Given the description of an element on the screen output the (x, y) to click on. 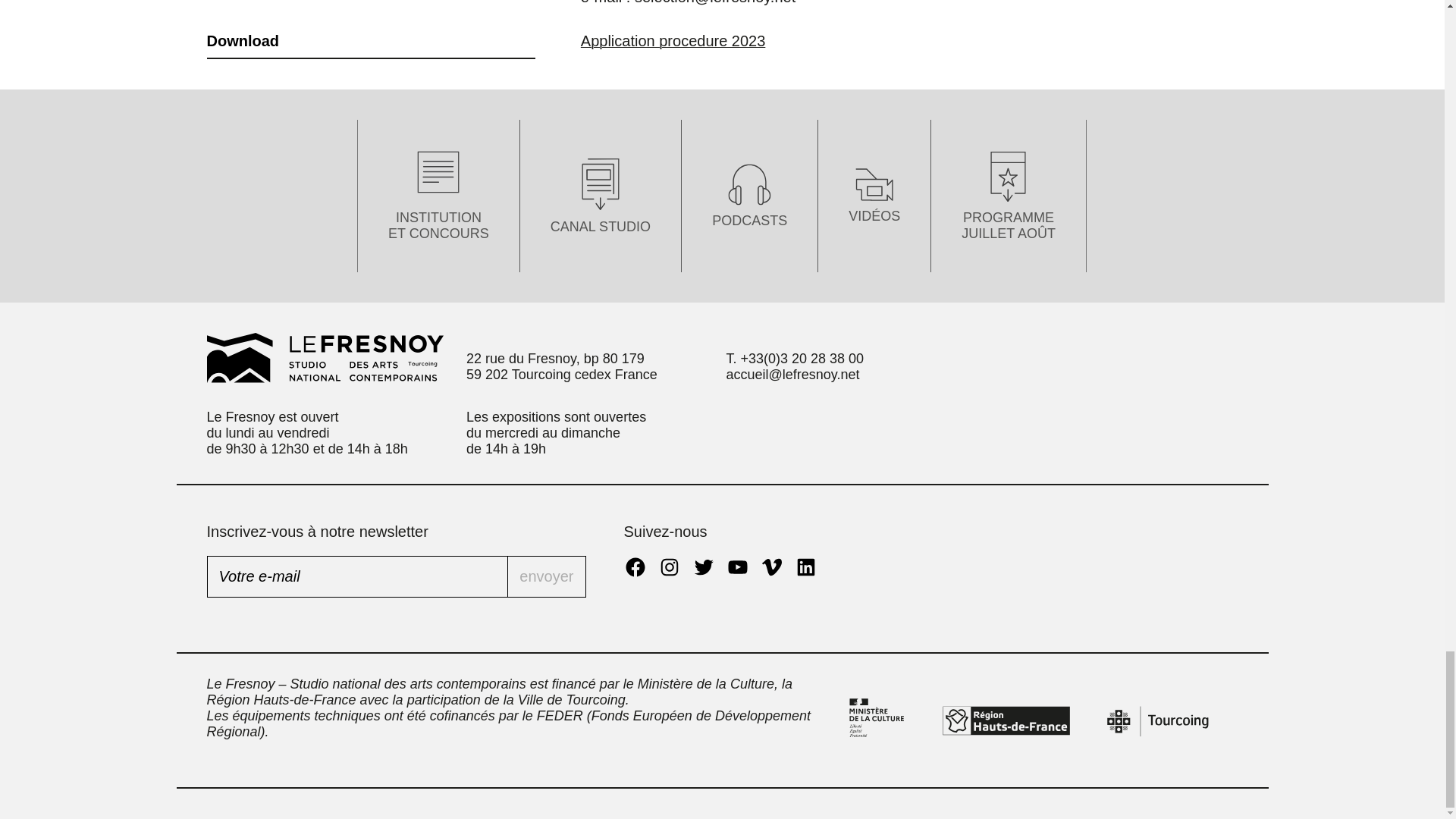
envoyer (545, 576)
